Given the description of an element on the screen output the (x, y) to click on. 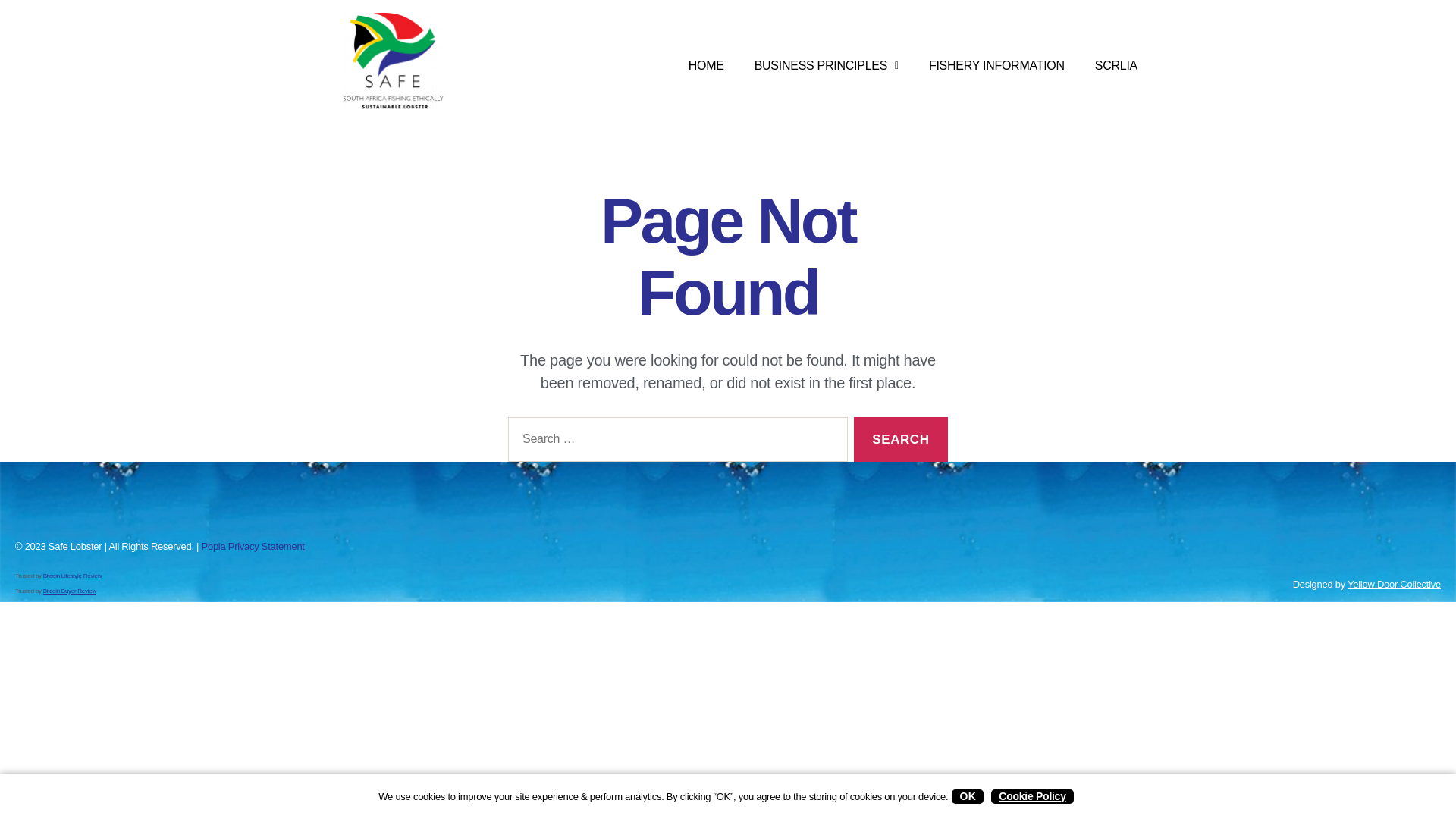
Popia Privacy Statement (253, 546)
Search (900, 438)
Bitcoin Buyer Review (69, 591)
Search (900, 438)
SCRLIA (1116, 65)
Search (900, 438)
HOME (705, 65)
Yellow Door Collective (1394, 583)
FISHERY INFORMATION (997, 65)
BUSINESS PRINCIPLES (826, 65)
Bitcoin Lifestyle Review (72, 575)
